Given the description of an element on the screen output the (x, y) to click on. 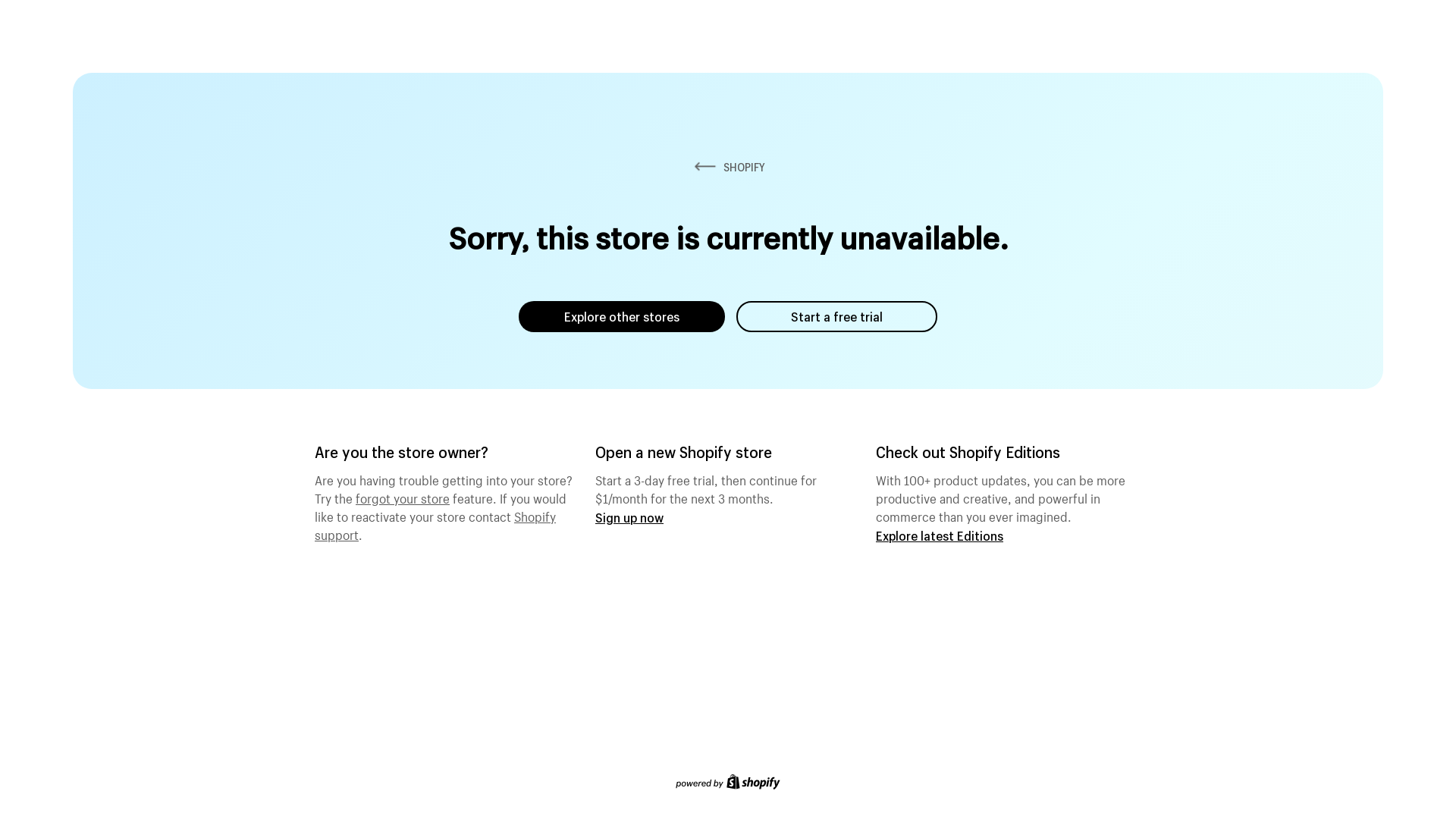
SHOPIFY Element type: text (727, 167)
Explore other stores Element type: text (621, 316)
Shopify support Element type: text (434, 523)
Start a free trial Element type: text (836, 316)
Explore latest Editions Element type: text (939, 535)
Sign up now Element type: text (629, 517)
forgot your store Element type: text (402, 496)
